Given the description of an element on the screen output the (x, y) to click on. 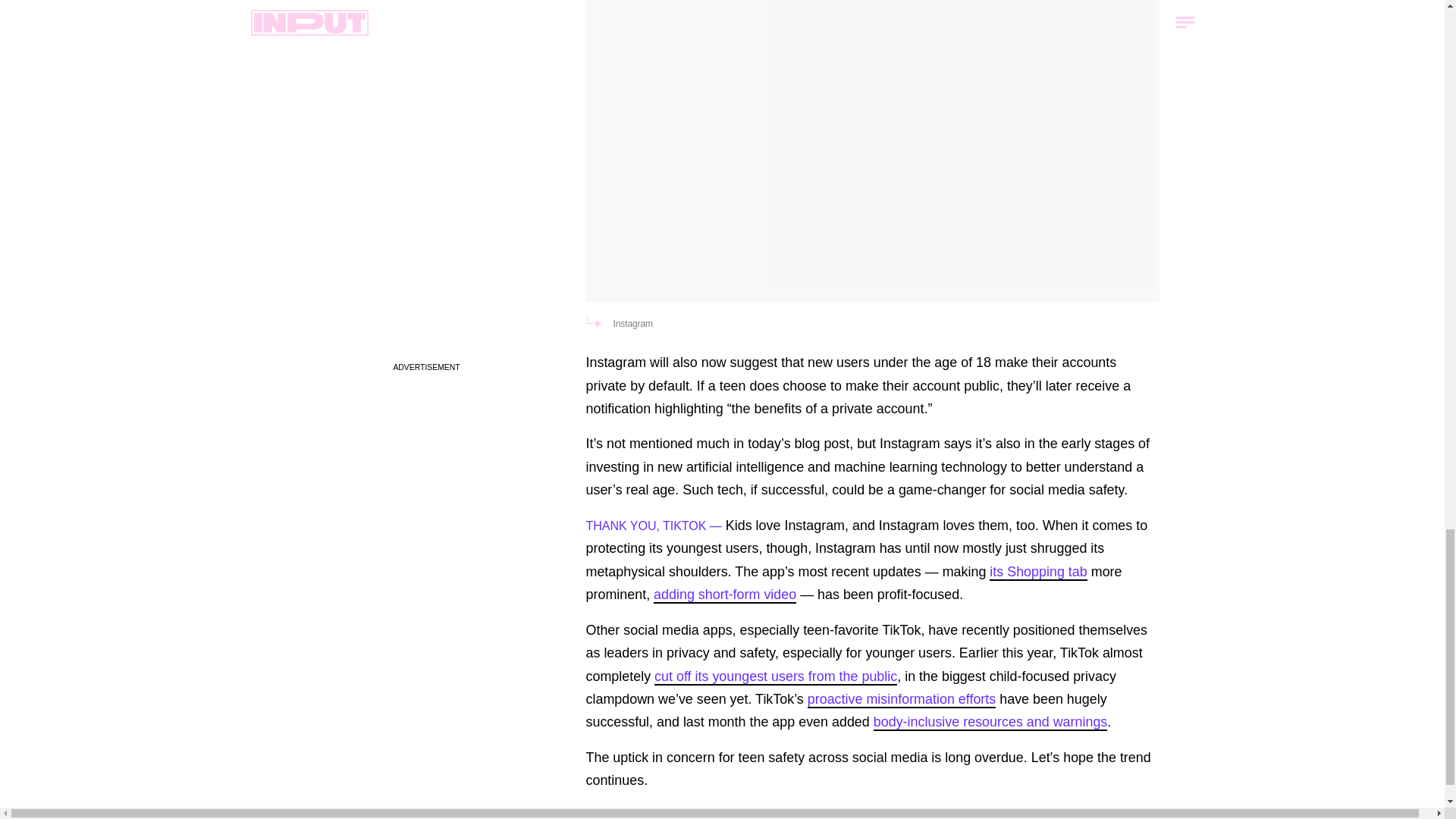
body-inclusive resources and warnings (990, 722)
adding short-form video (724, 595)
its Shopping tab (1038, 572)
cut off its youngest users from the public (774, 677)
proactive misinformation efforts (901, 699)
